Given the description of an element on the screen output the (x, y) to click on. 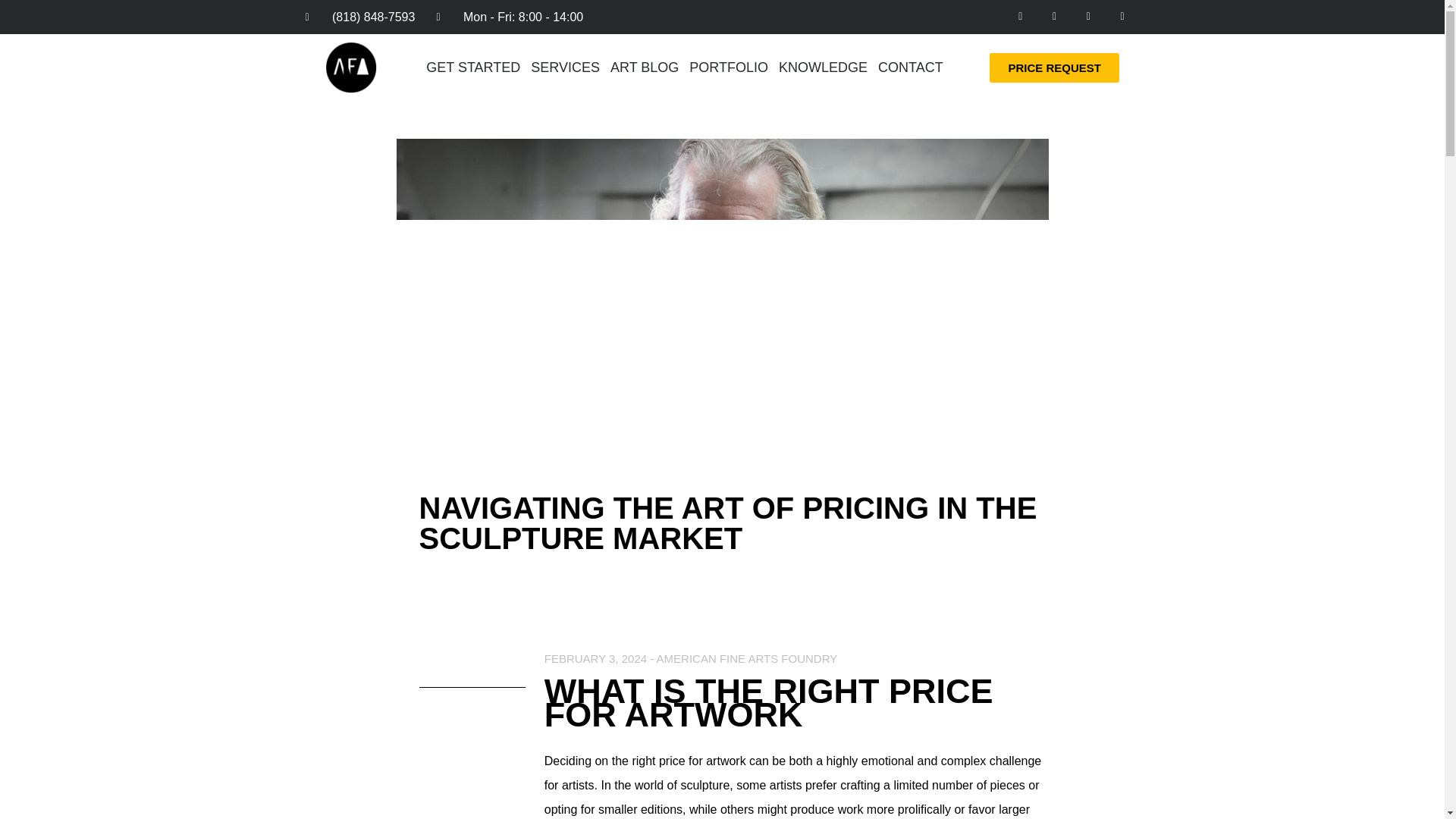
SERVICES (565, 67)
CONTACT (910, 67)
GET STARTED (472, 67)
PORTFOLIO (728, 67)
ART BLOG (644, 67)
KNOWLEDGE (822, 67)
